Given the description of an element on the screen output the (x, y) to click on. 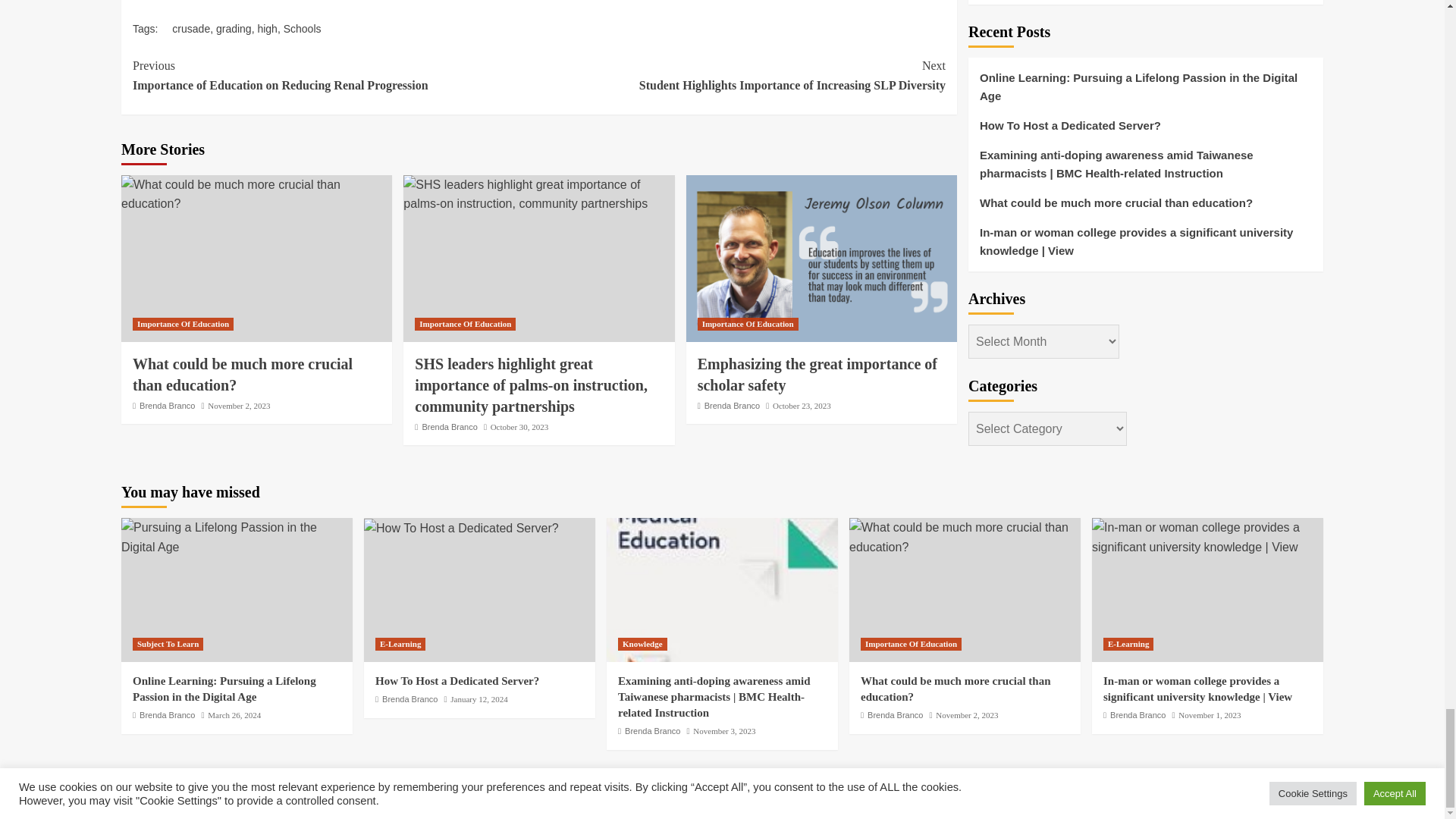
Emphasizing the great importance of scholar safety (820, 257)
How To Host a Dedicated Server? (461, 528)
What could be much more crucial than education? (964, 536)
Pursuing a Lifelong Passion in the Digital Age (236, 536)
What could be much more crucial than education? (255, 193)
